Given the description of an element on the screen output the (x, y) to click on. 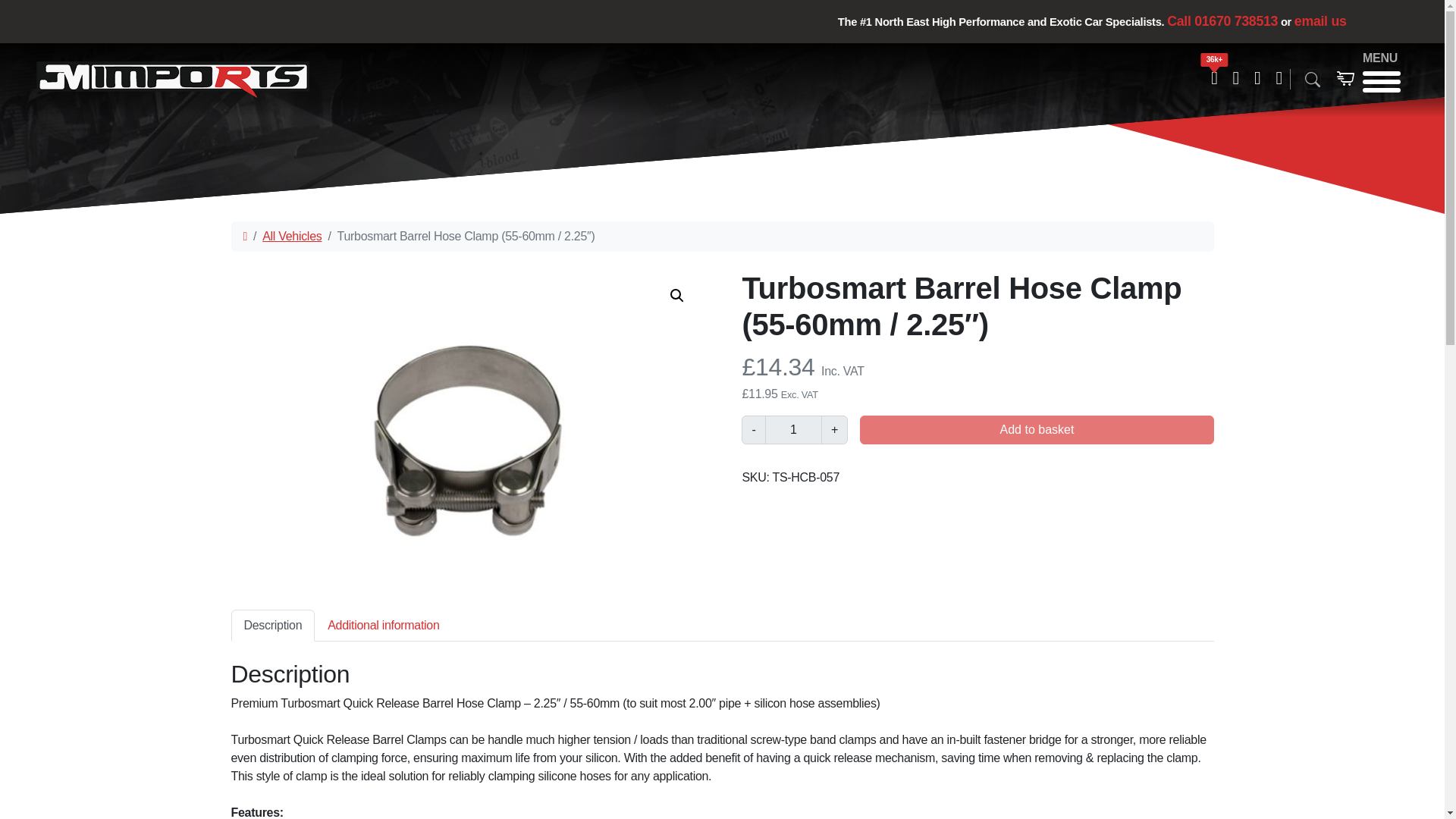
1 (793, 429)
Call 01670 738513 (1222, 20)
Qty (793, 429)
email us (721, 634)
